Given the description of an element on the screen output the (x, y) to click on. 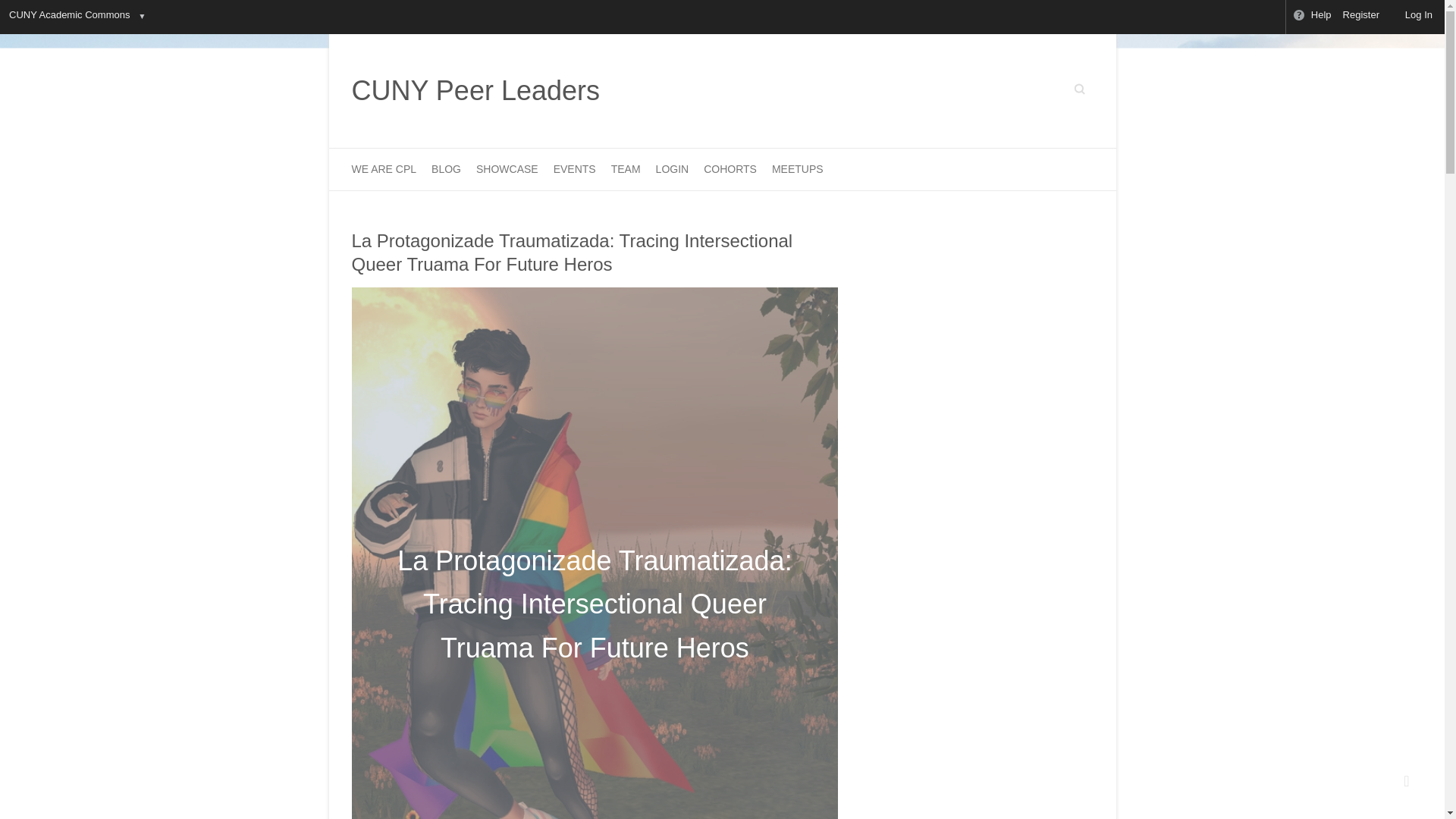
WE ARE CPL (384, 169)
SHOWCASE (507, 169)
Register (1362, 17)
Log In (1412, 17)
Help (1311, 17)
MEETUPS (797, 169)
CUNY Peer Leaders (475, 90)
CUNY Academic Commons (68, 17)
COHORTS (730, 169)
EVENTS (574, 169)
CUNY Peer Leaders (475, 90)
